Given the description of an element on the screen output the (x, y) to click on. 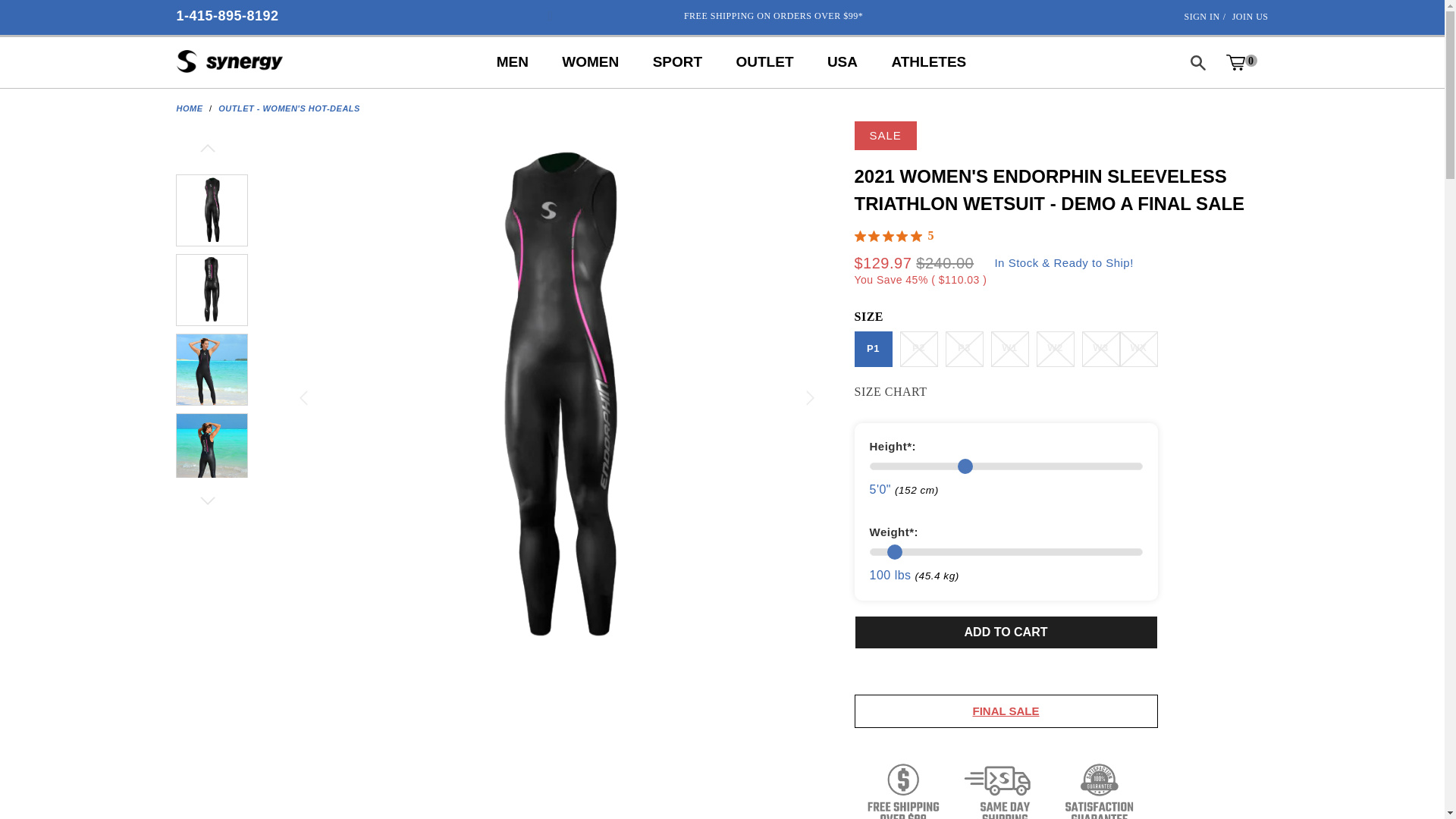
100 (1005, 551)
Synergy Wetsuits  (189, 108)
Cart (1241, 62)
60 (1005, 466)
Search (1196, 62)
Synergy Wetsuits  (229, 62)
Outlet - Women's Hot-Deals (288, 108)
5 (896, 236)
